Given the description of an element on the screen output the (x, y) to click on. 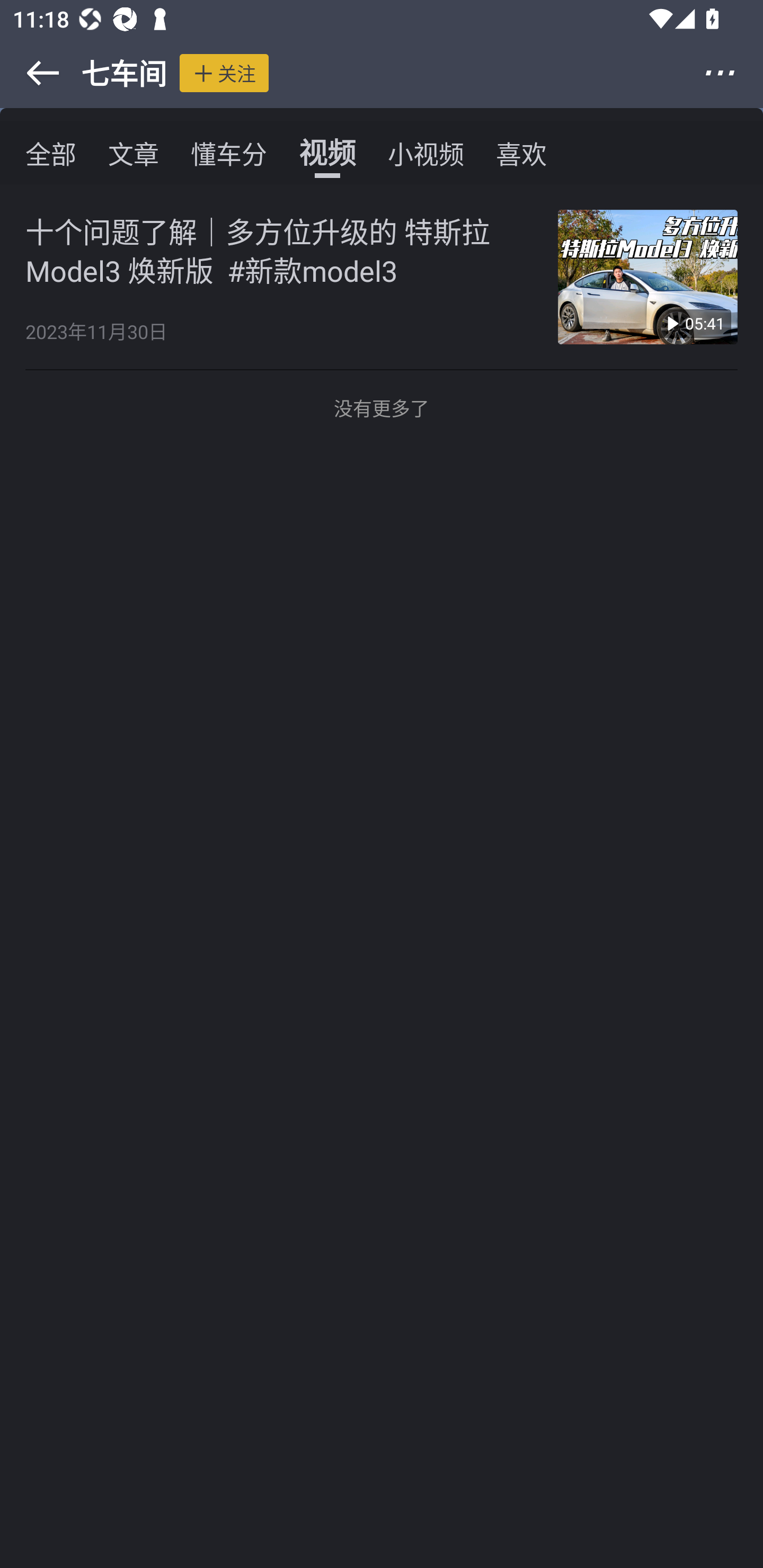
 (30, 72)
 (732, 72)
 关注 (223, 72)
全部 (50, 152)
文章 (133, 152)
懂车分 (228, 152)
视频 (327, 152)
小视频 (425, 152)
喜欢 (521, 152)
